Given the description of an element on the screen output the (x, y) to click on. 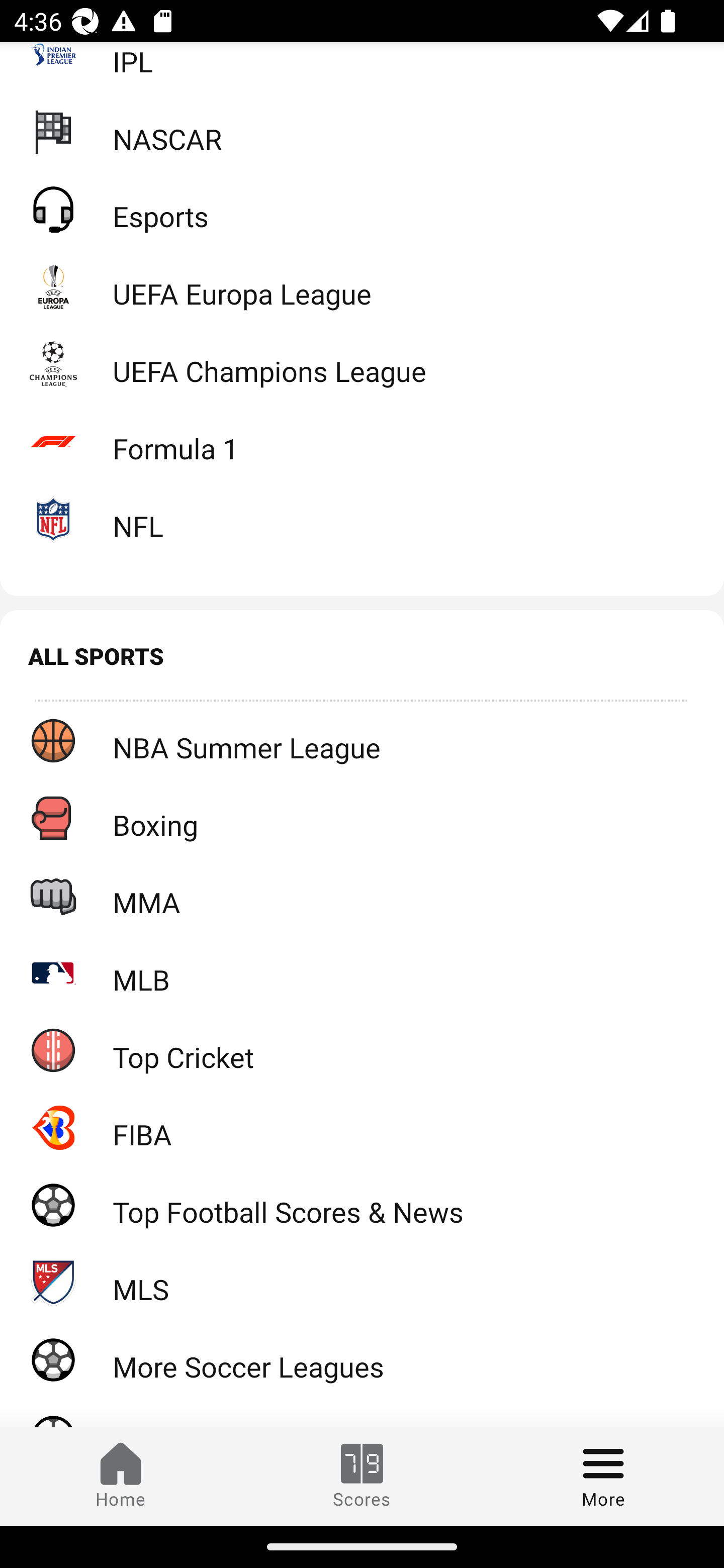
IPL (362, 67)
NASCAR (362, 131)
Esports (362, 208)
UEFA Europa League (362, 285)
UEFA Champions League (362, 363)
Formula 1 (362, 440)
NFL (362, 517)
NBA Summer League (362, 739)
Boxing (362, 817)
MMA (362, 895)
MLB (362, 972)
Top Cricket (362, 1049)
FIBA  (362, 1127)
Top Football Scores & News (362, 1204)
MLS (362, 1281)
More Soccer Leagues (362, 1359)
Home (120, 1475)
Scores (361, 1475)
